Given the description of an element on the screen output the (x, y) to click on. 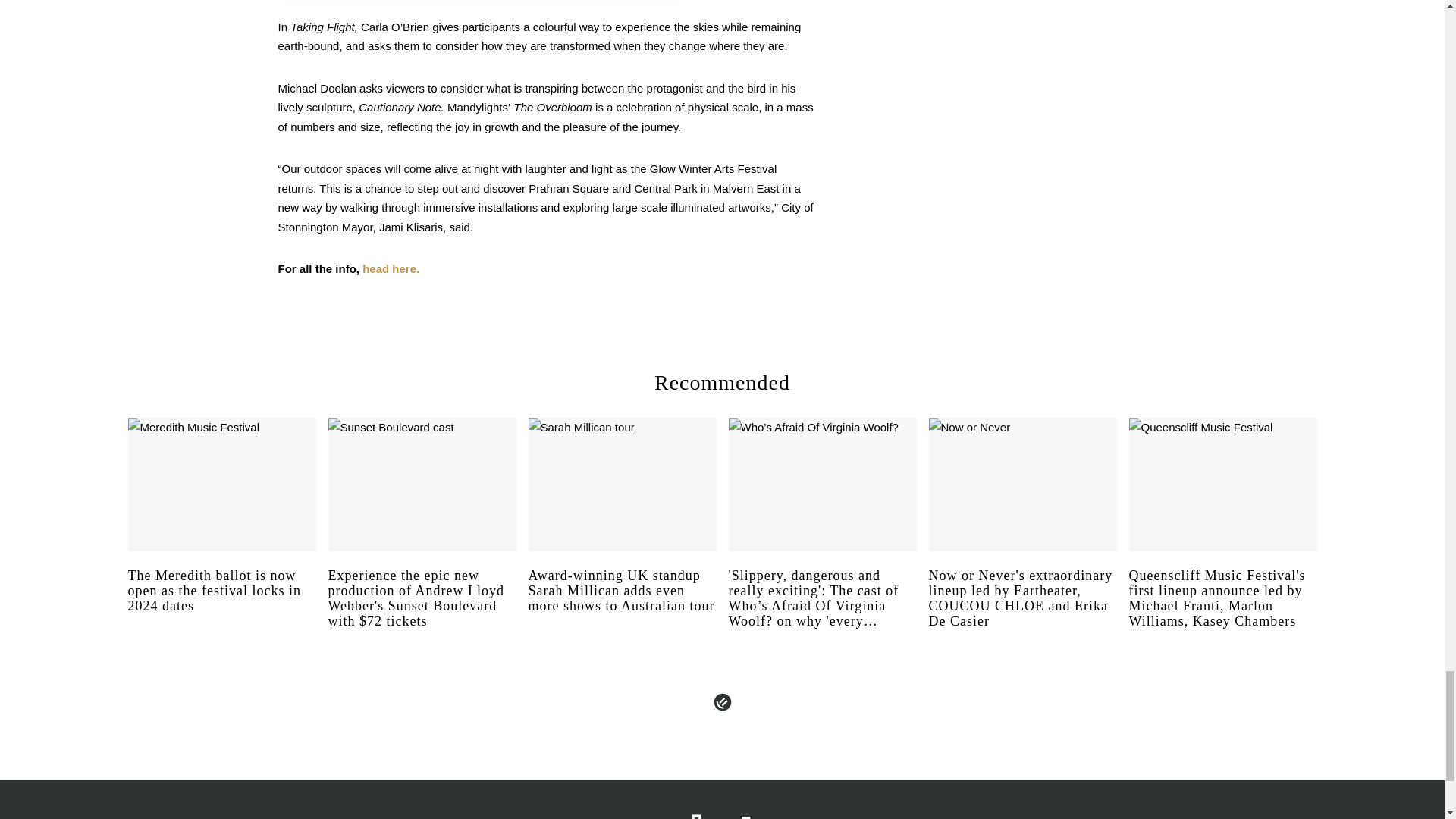
head here. (390, 268)
